Given the description of an element on the screen output the (x, y) to click on. 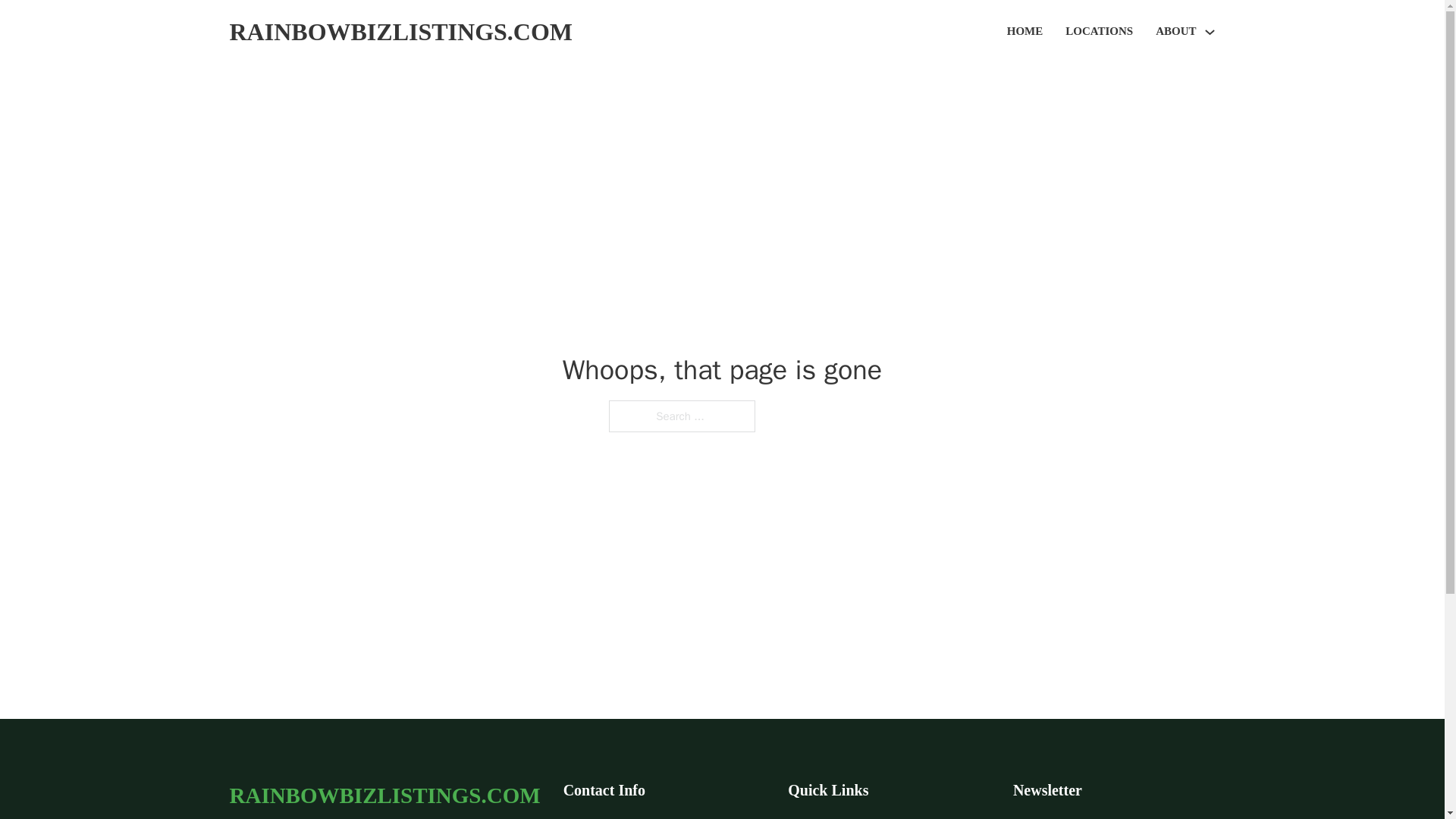
RAINBOWBIZLISTINGS.COM (384, 795)
LOCATIONS (1098, 31)
HOME (1025, 31)
RAINBOWBIZLISTINGS.COM (400, 31)
